Given the description of an element on the screen output the (x, y) to click on. 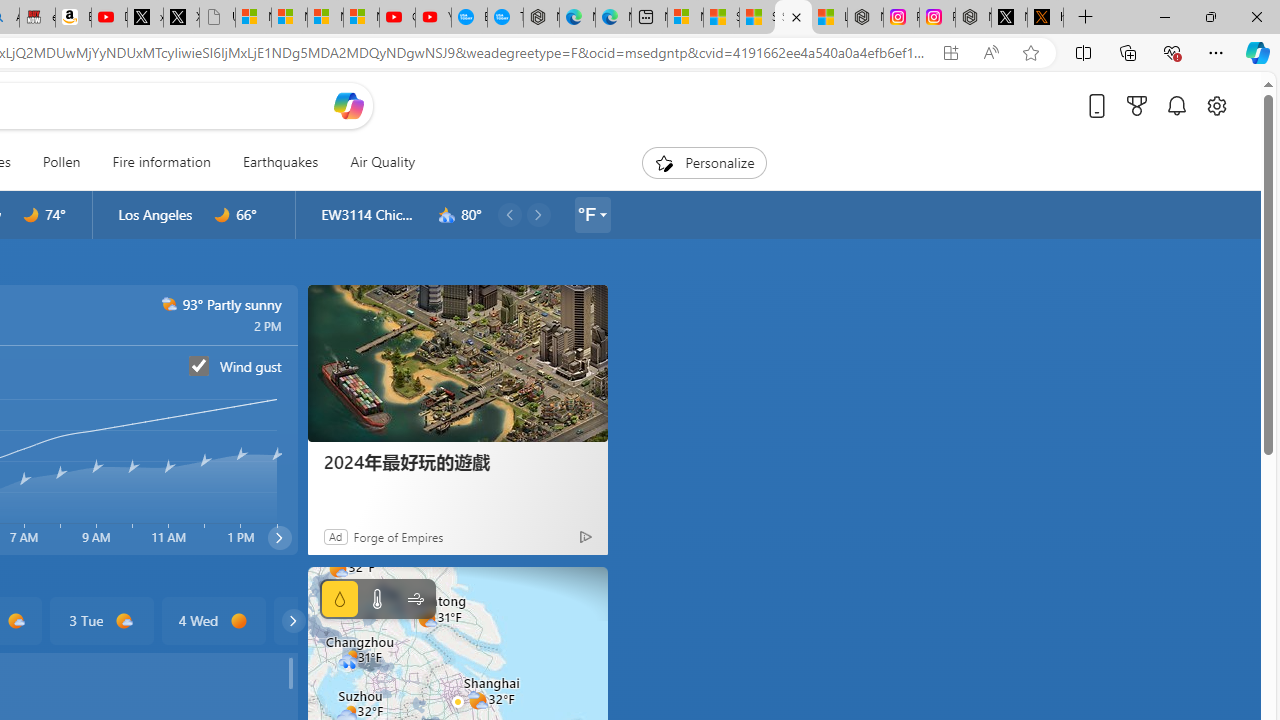
Personalize (703, 162)
common/carouselChevron (293, 620)
App available. Install Microsoft Start Weather (950, 53)
4 Wed d0000 (213, 620)
Microsoft account | Microsoft Account Privacy Settings (685, 17)
d2000 (169, 303)
Shanghai, China hourly forecast | Microsoft Weather (793, 17)
d1000 (124, 621)
help.x.com | 524: A timeout occurred (1045, 17)
Untitled (217, 17)
